Given the description of an element on the screen output the (x, y) to click on. 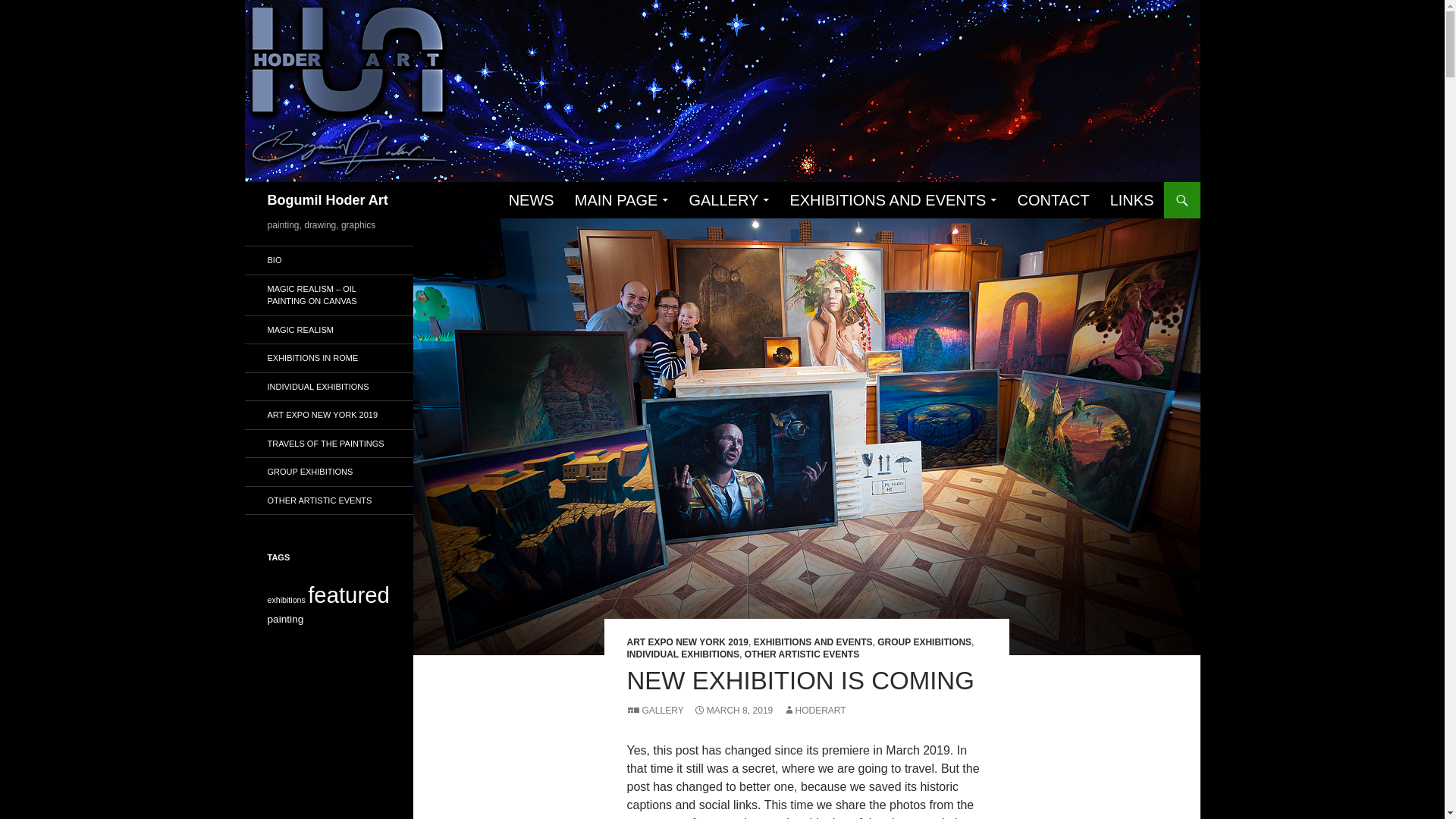
OTHER ARTISTIC EVENTS (802, 654)
ART EXPO NEW YORK 2019 (687, 642)
EXHIBITIONS AND EVENTS (893, 199)
MAIN PAGE (622, 199)
NEWS (531, 199)
Bogumil Hoder Art (326, 199)
CONTACT (1052, 199)
HODERART (814, 710)
GALLERY (728, 199)
GROUP EXHIBITIONS (924, 642)
EXHIBITIONS AND EVENTS (813, 642)
GALLERY (654, 710)
MARCH 8, 2019 (733, 710)
